Given the description of an element on the screen output the (x, y) to click on. 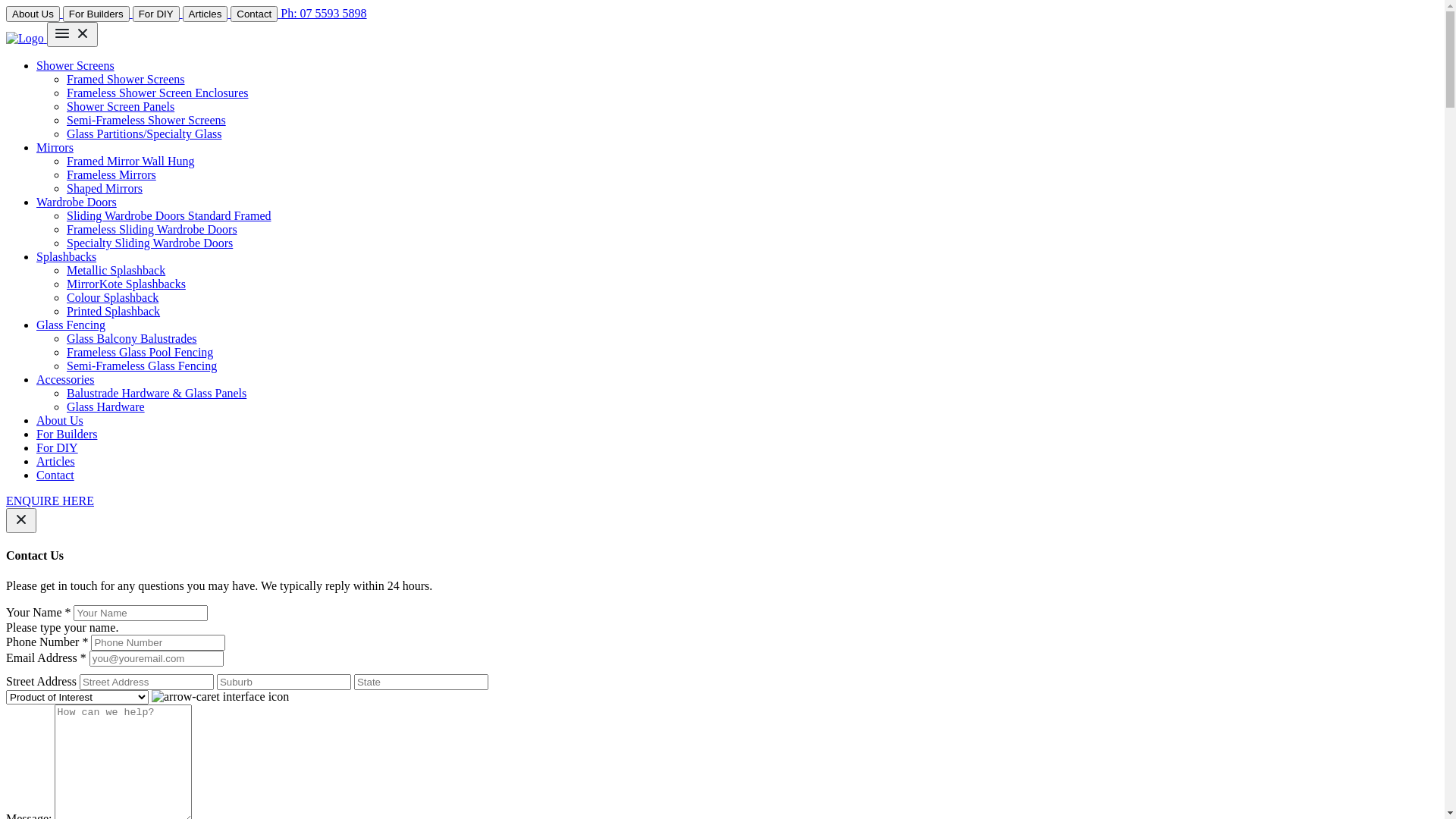
About Us Element type: text (32, 13)
Glass Fencing Element type: text (70, 324)
Articles Element type: text (205, 13)
Glass Balcony Balustrades Element type: text (131, 338)
Frameless Shower Screen Enclosures Element type: text (157, 92)
Shower Screens Element type: text (75, 65)
Printed Splashback Element type: text (113, 310)
Sliding Wardrobe Doors Standard Framed Element type: text (168, 215)
Contact Element type: text (255, 12)
For DIY Element type: text (57, 447)
Semi-Frameless Shower Screens Element type: text (145, 119)
Mirrors Element type: text (54, 147)
Balustrade Hardware & Glass Panels Element type: text (156, 392)
Semi-Frameless Glass Fencing Element type: text (141, 365)
Wardrobe Doors Element type: text (76, 201)
For Builders Element type: text (66, 433)
Colour Splashback Element type: text (112, 297)
ENQUIRE HERE Element type: text (50, 500)
Articles Element type: text (55, 461)
For Builders Element type: text (95, 13)
Specialty Sliding Wardrobe Doors Element type: text (149, 242)
Ph: 07 5593 5898 Element type: text (323, 12)
For DIY Element type: text (157, 12)
Contact Element type: text (55, 474)
Frameless Sliding Wardrobe Doors Element type: text (151, 228)
Framed Shower Screens Element type: text (125, 78)
Framed Mirror Wall Hung Element type: text (130, 160)
Frameless Glass Pool Fencing Element type: text (139, 351)
About Us Element type: text (59, 420)
Shaped Mirrors Element type: text (104, 188)
For DIY Element type: text (155, 13)
Contact Element type: text (253, 13)
Shower Screen Panels Element type: text (120, 106)
Metallic Splashback Element type: text (115, 269)
Articles Element type: text (206, 12)
Frameless Mirrors Element type: text (111, 174)
Splashbacks Element type: text (66, 256)
MirrorKote Splashbacks Element type: text (125, 283)
Glass Hardware Element type: text (105, 406)
About Us Element type: text (34, 12)
Glass Partitions/Specialty Glass Element type: text (143, 133)
For Builders Element type: text (97, 12)
Accessories Element type: text (65, 379)
